Given the description of an element on the screen output the (x, y) to click on. 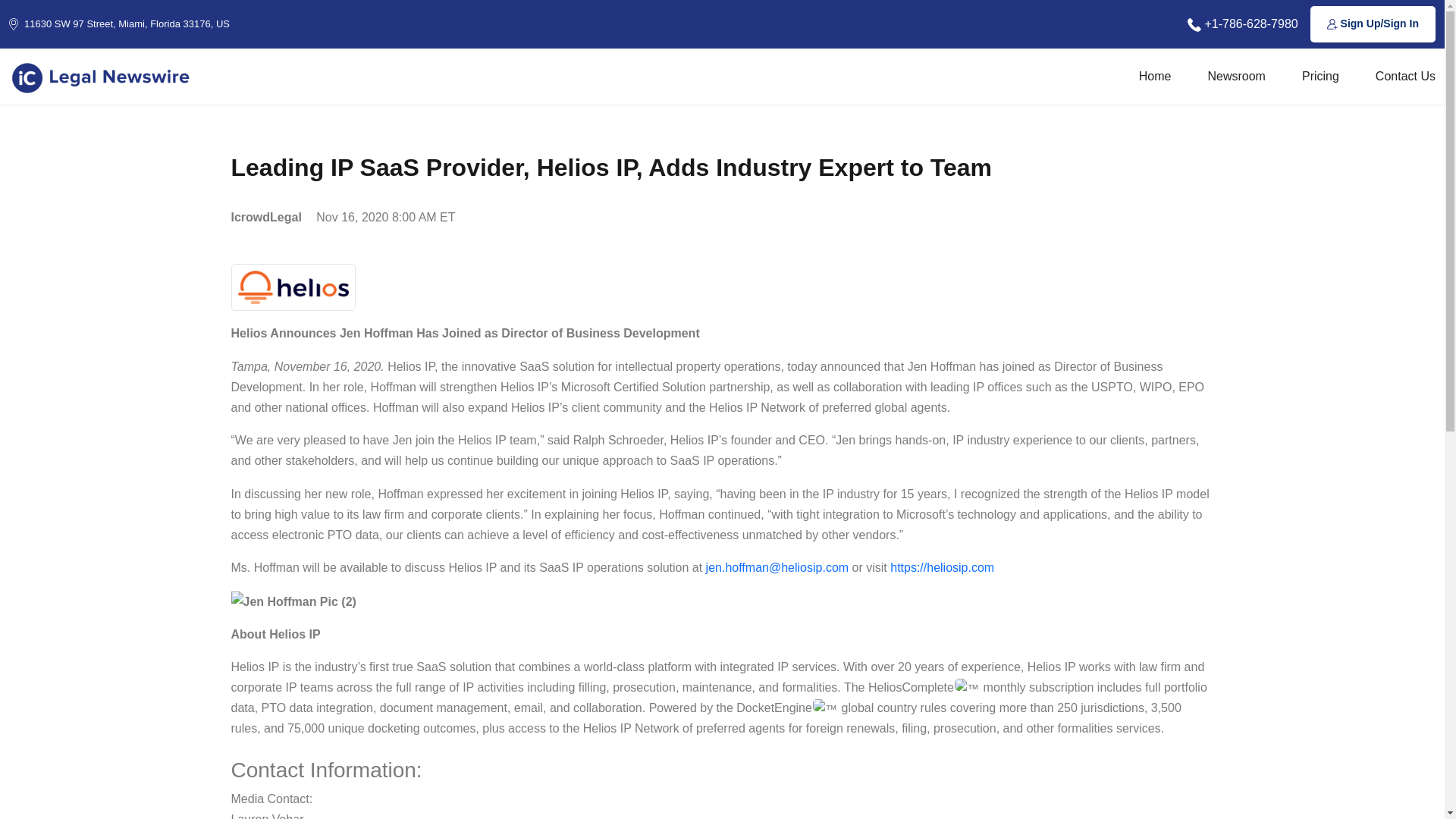
Newsroom (1236, 75)
Contact Us (1405, 75)
Pricing (1320, 75)
Home (1155, 75)
